Given the description of an element on the screen output the (x, y) to click on. 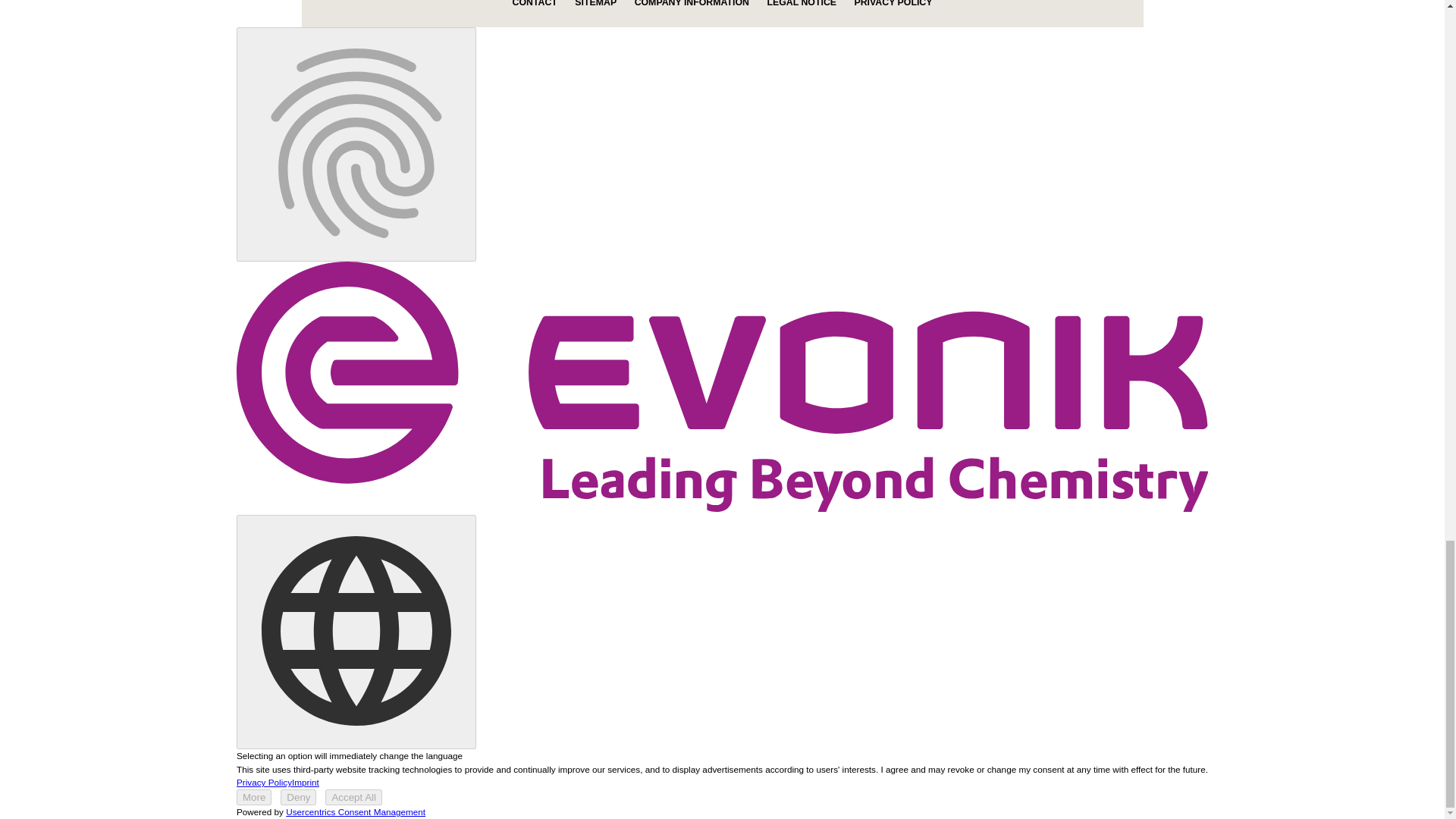
SITEMAP (595, 3)
LEGAL NOTICE (801, 3)
CONTACT (534, 3)
PRIVACY POLICY (892, 3)
COMPANY INFORMATION (691, 3)
